Given the description of an element on the screen output the (x, y) to click on. 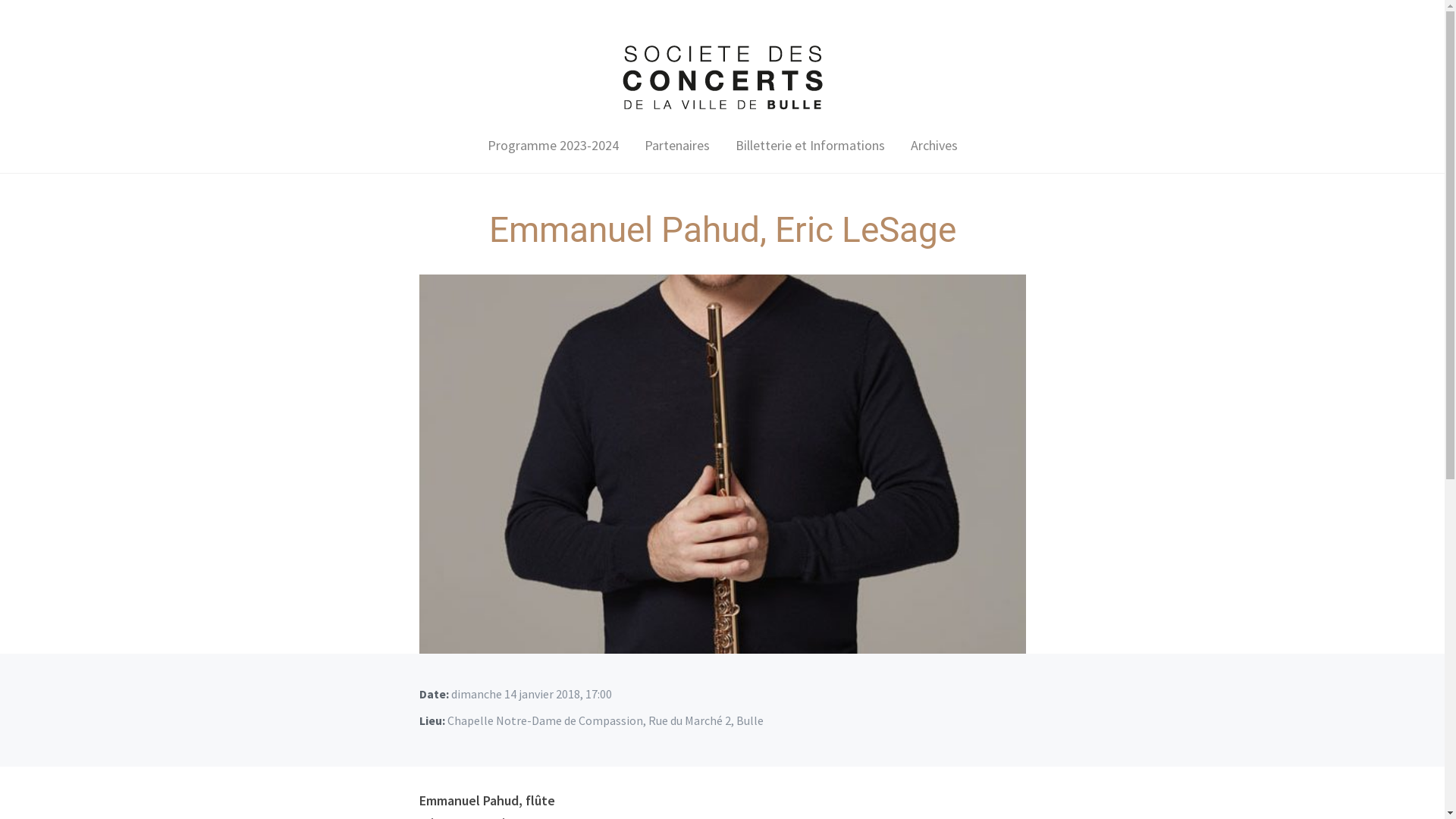
Billetterie et Informations Element type: text (809, 145)
Partenaires Element type: text (676, 145)
Programme 2023-2024 Element type: text (552, 145)
Archives Element type: text (933, 145)
De la ville de Bulle Element type: hover (721, 75)
